Given the description of an element on the screen output the (x, y) to click on. 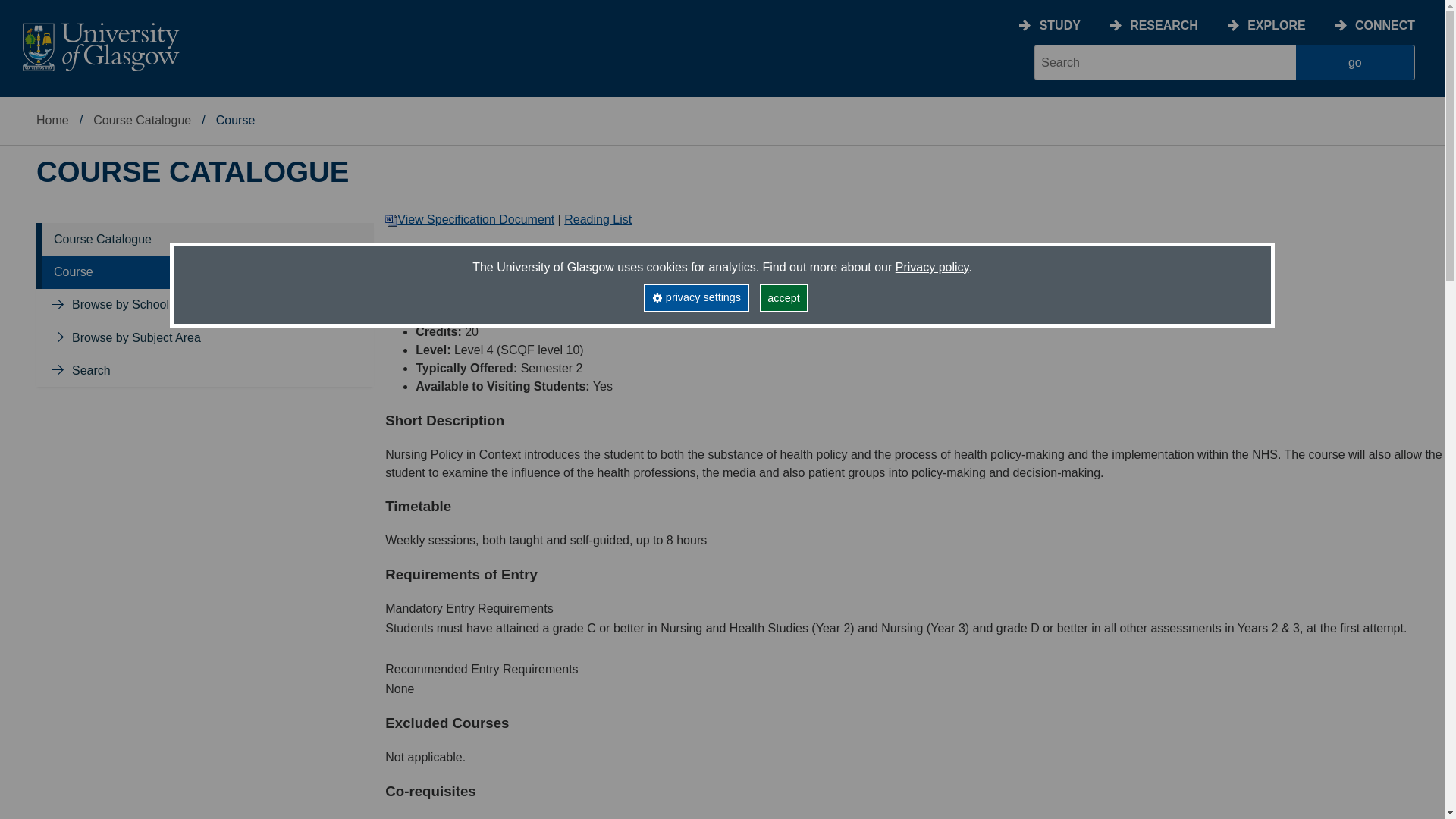
STUDY (1059, 24)
Course Catalogue (102, 238)
accept (784, 298)
Browse by School (119, 304)
Home (52, 119)
go (1355, 62)
EXPLORE (1275, 24)
Privacy policy (932, 267)
Course Catalogue (141, 119)
CONNECT (1385, 24)
Browse by Subject Area (135, 337)
submit (1355, 62)
Search (90, 369)
Course (73, 271)
Reading List (597, 219)
